Given the description of an element on the screen output the (x, y) to click on. 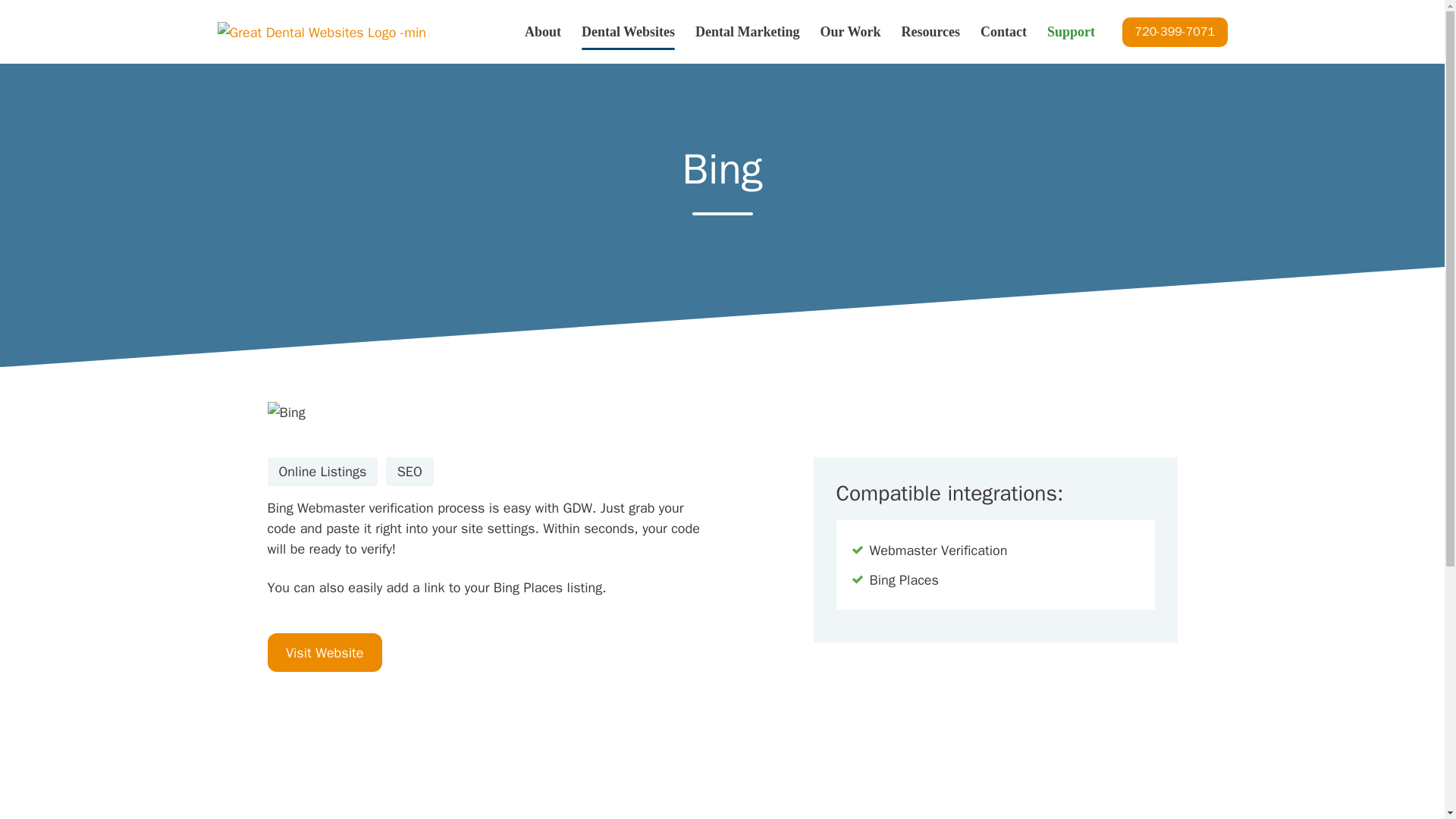
Support (1070, 31)
Dental Websites (627, 31)
Our Work (850, 31)
720-399-7071 (1174, 31)
About (542, 31)
Contact (1002, 31)
Great Dental Websites Logo -min (321, 32)
Resources (930, 31)
Dental Marketing (747, 31)
